Given the description of an element on the screen output the (x, y) to click on. 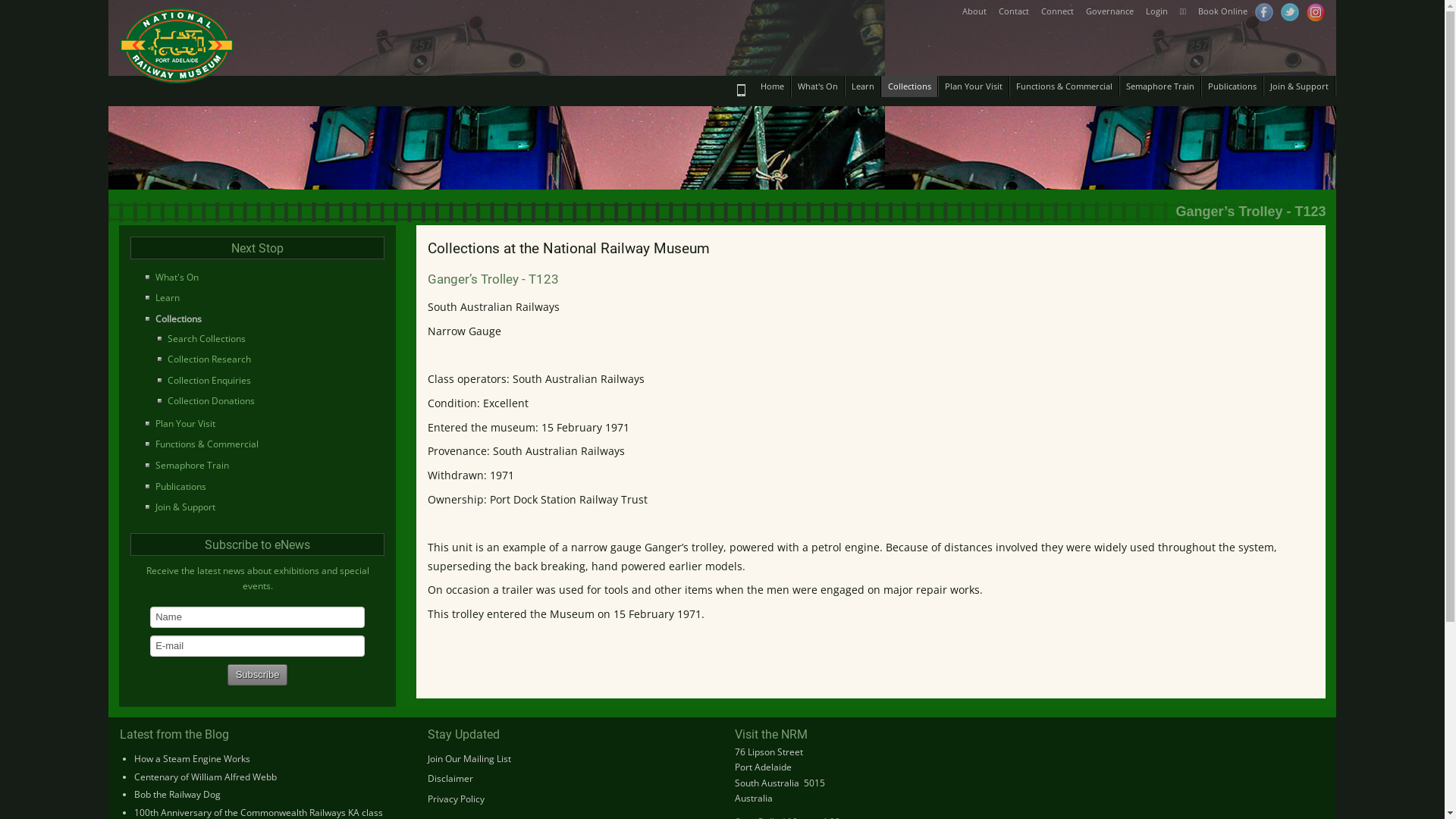
Join & Support Element type: text (1299, 86)
About Element type: text (974, 10)
Collection Donations Element type: text (269, 401)
Collections Element type: text (262, 319)
E-mail Element type: hover (257, 645)
Functions & Commercial Element type: text (1064, 86)
Book Online Element type: text (1222, 10)
Join Our Mailing List Element type: text (469, 758)
Instagram Element type: text (1315, 12)
Name Element type: hover (257, 616)
Plan Your Visit Element type: text (973, 86)
Collections Element type: text (909, 86)
How a Steam Engine Works Element type: text (192, 758)
Search Collections Element type: text (269, 338)
What's On Element type: text (262, 277)
Connect Element type: text (1057, 10)
Semaphore Train Element type: text (1160, 86)
What's On Element type: text (817, 86)
Collection Enquiries Element type: text (269, 380)
Plan Your Visit Element type: text (262, 423)
Centenary of William Alfred Webb Element type: text (205, 776)
Functions & Commercial Element type: text (262, 444)
Facebook Element type: text (1264, 12)
Login Element type: text (1156, 10)
Disclaimer Element type: text (450, 777)
Twitter Element type: text (1289, 12)
Publications Element type: text (262, 486)
Subscribe Element type: text (257, 674)
Privacy Policy Element type: text (455, 798)
Publications Element type: text (1232, 86)
Learn Element type: text (863, 86)
Bob the Railway Dog Element type: text (177, 793)
Join & Support Element type: text (262, 507)
Home Element type: text (772, 86)
Semaphore Train Element type: text (262, 465)
Learn Element type: text (262, 297)
Collection Research Element type: text (269, 359)
Governance Element type: text (1109, 10)
Contact Element type: text (1013, 10)
